Given the description of an element on the screen output the (x, y) to click on. 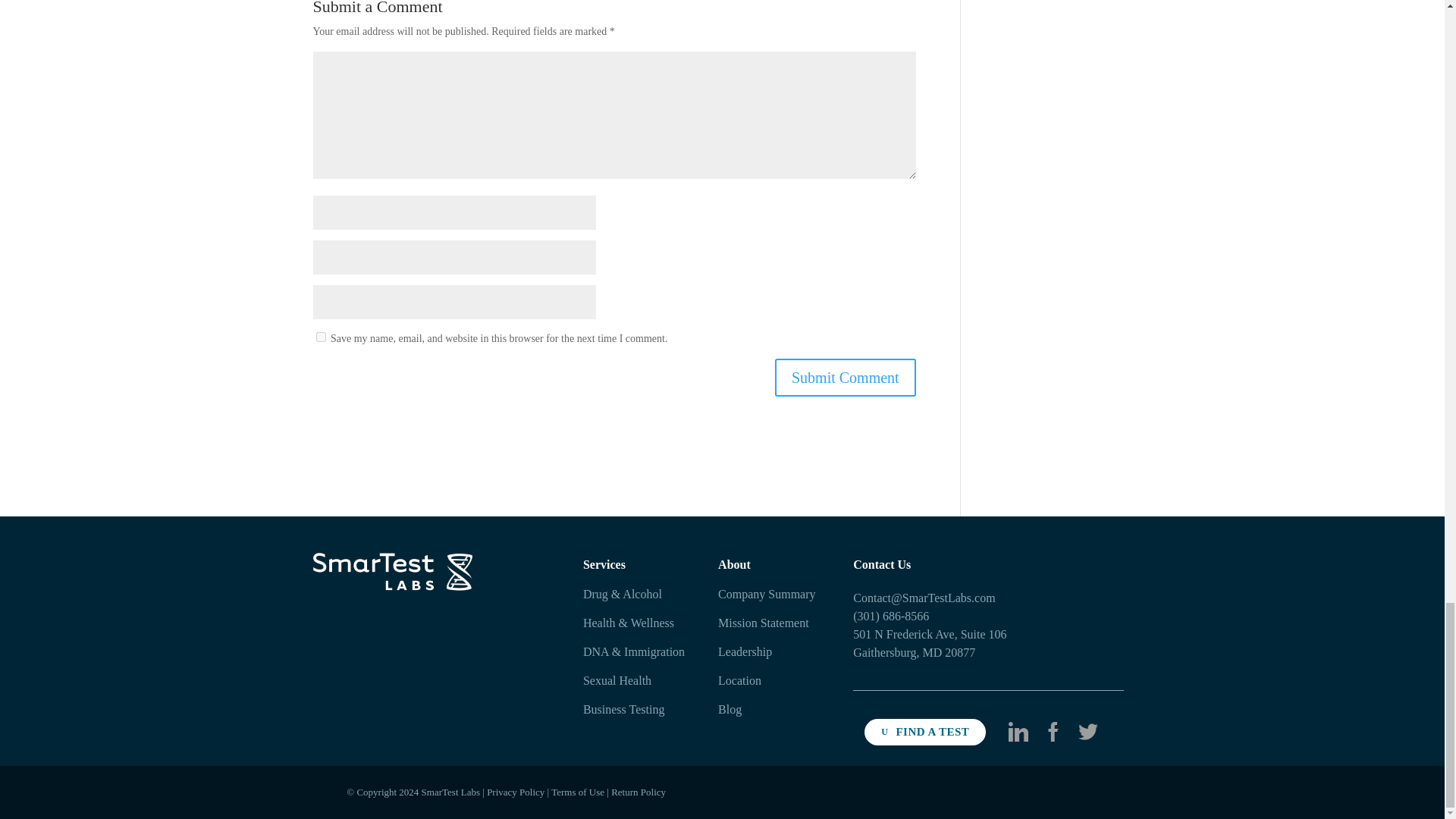
Submit Comment (844, 377)
Site-logo-large (392, 571)
yes (319, 337)
